Given the description of an element on the screen output the (x, y) to click on. 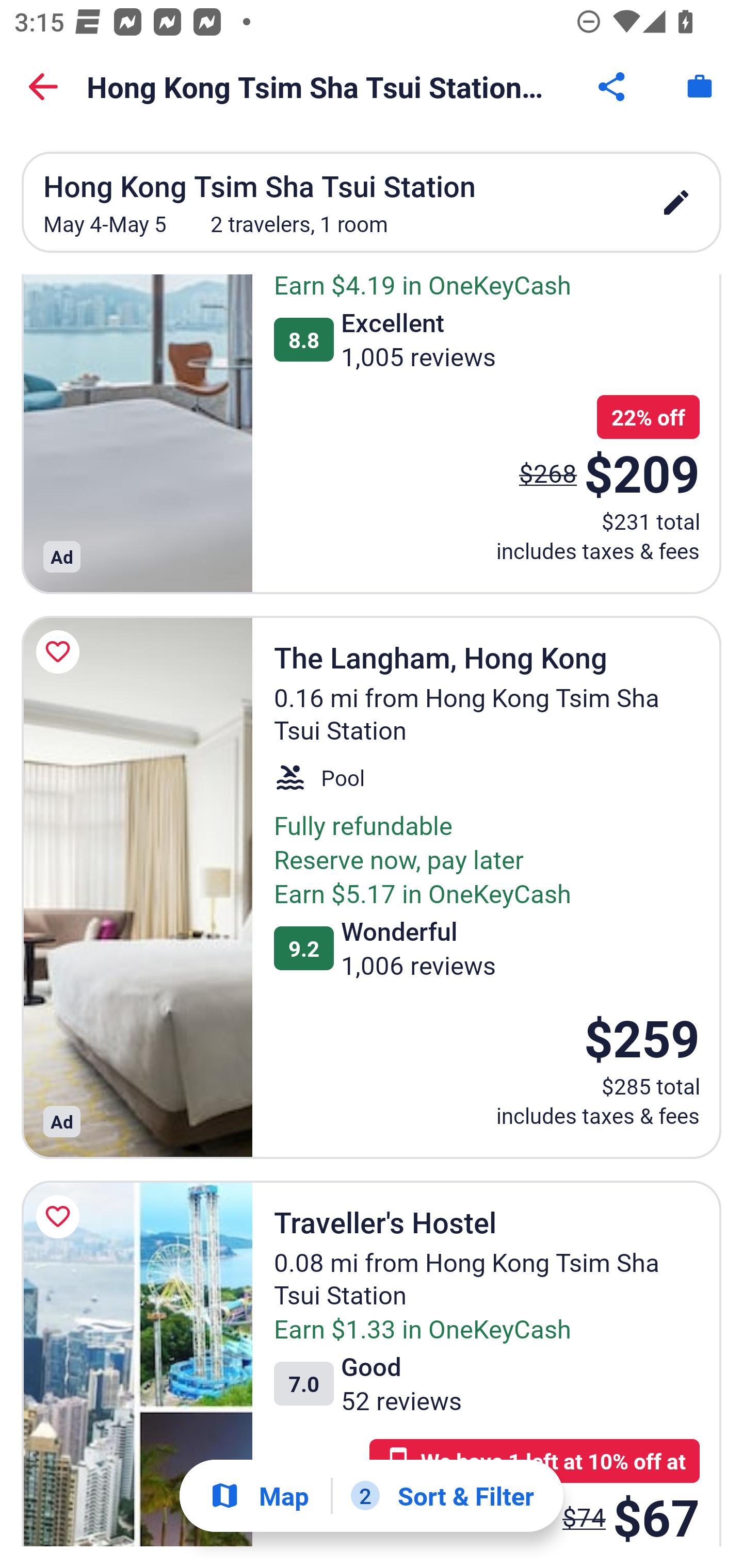
Back (43, 86)
Share Button (612, 86)
Trips. Button (699, 86)
New World Millennium Hong Kong Hotel (136, 434)
$268 The price was $268 (547, 472)
Save The Langham, Hong Kong to a trip (61, 651)
The Langham, Hong Kong (136, 887)
Save Traveller's Hostel to a trip (61, 1216)
Traveller's Hostel (136, 1363)
2 Sort & Filter 2 Filters applied. Filters Button (442, 1495)
$74 The price was $74 (583, 1509)
Show map Map Show map Button (258, 1495)
